Given the description of an element on the screen output the (x, y) to click on. 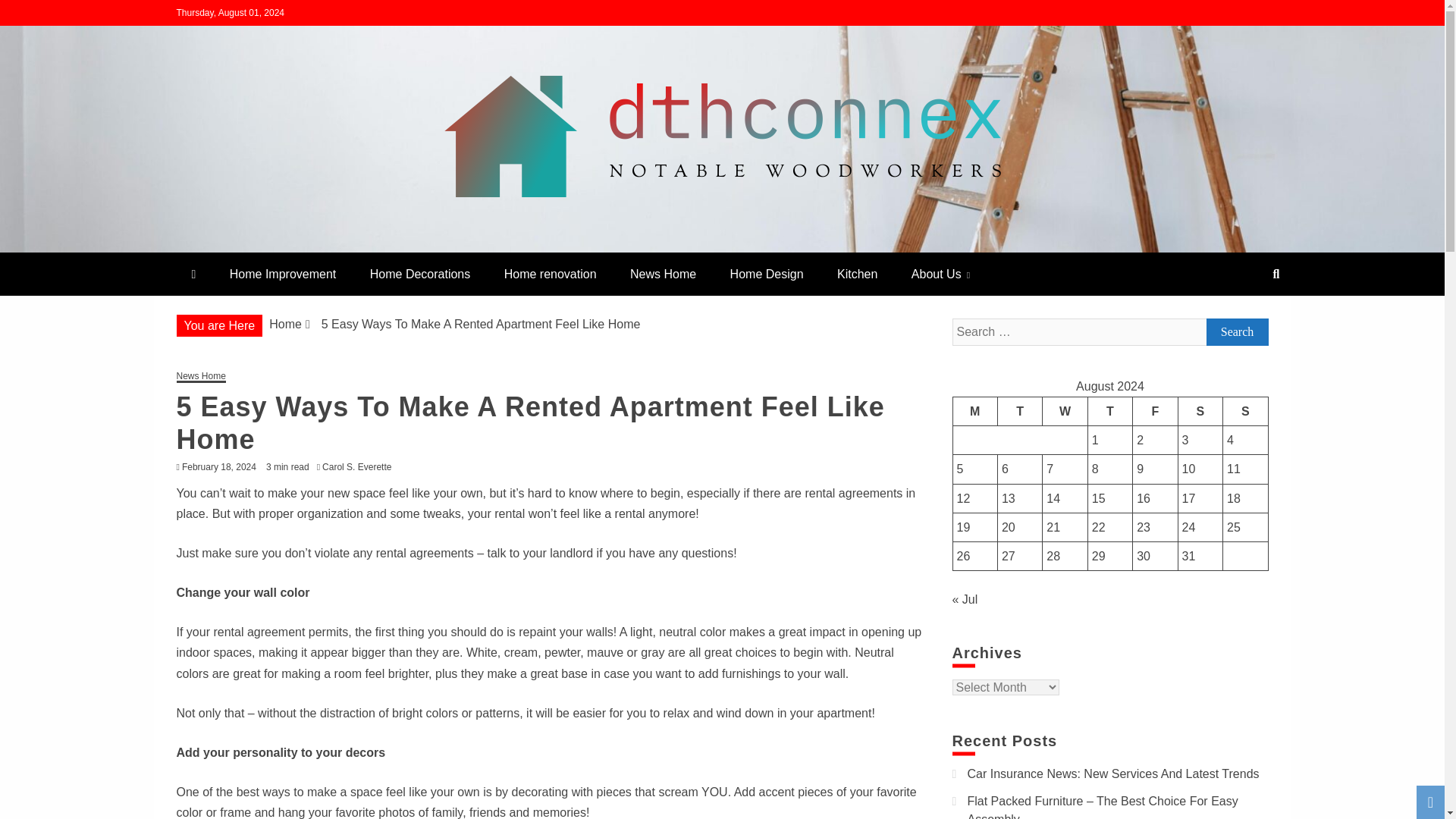
News Home (662, 273)
Kitchen (857, 273)
About Us (940, 273)
Search (1236, 331)
February 18, 2024 (219, 466)
Home (285, 323)
Home Design (766, 273)
News Home (200, 377)
Monday (974, 410)
Carol S. Everette (359, 466)
Thursday (1109, 410)
Home Improvement (283, 273)
Search (31, 13)
Home renovation (550, 273)
Tuesday (1019, 410)
